Given the description of an element on the screen output the (x, y) to click on. 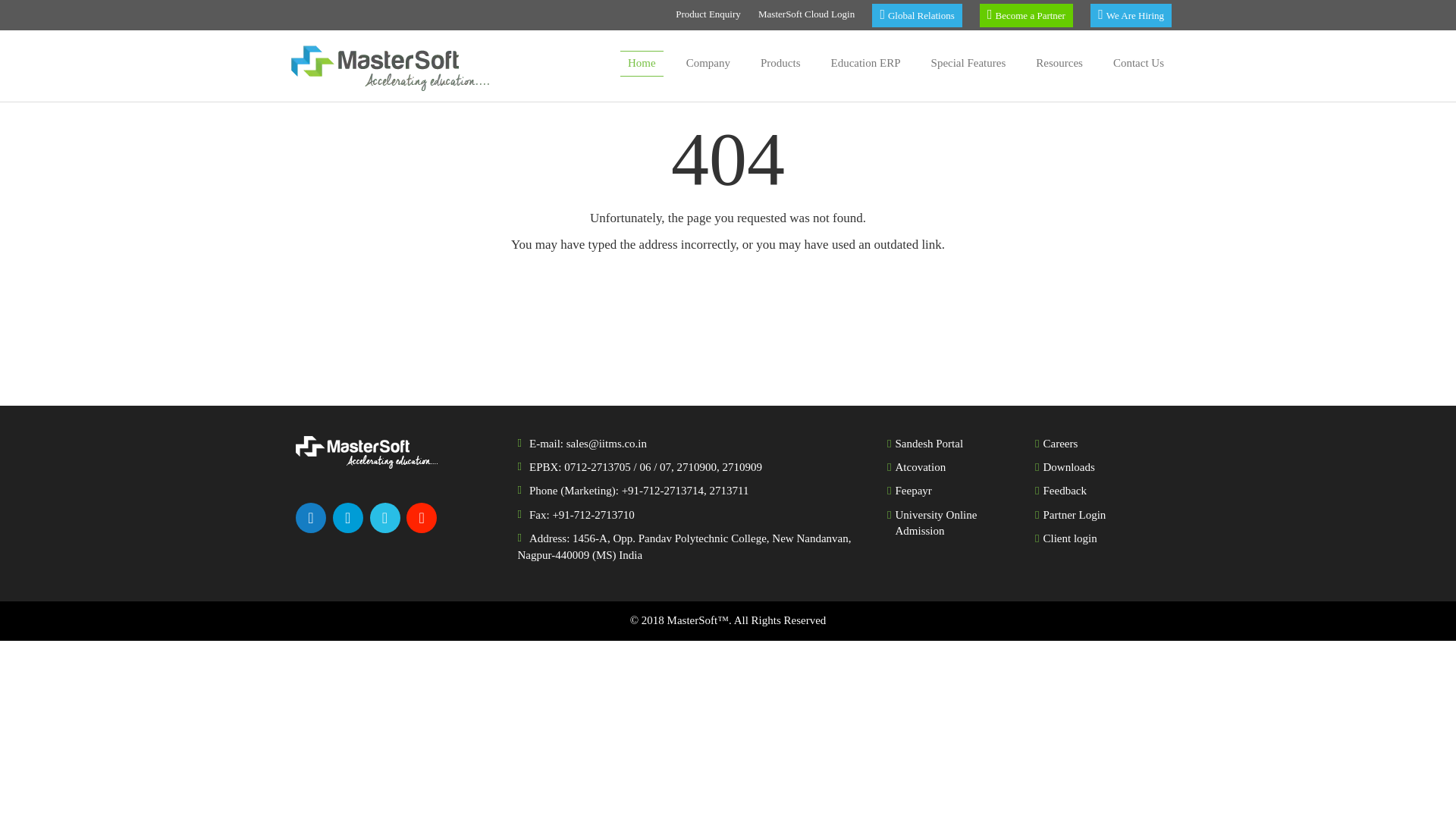
Company (708, 63)
Become a Partner (1026, 15)
Home (641, 63)
Global Relations (916, 15)
Special Features (968, 63)
Products (780, 63)
Product Enquiry (708, 15)
MasterSoft Cloud Login (806, 15)
We Are Hiring (1131, 15)
MastersoftERP Solution (641, 63)
